Given the description of an element on the screen output the (x, y) to click on. 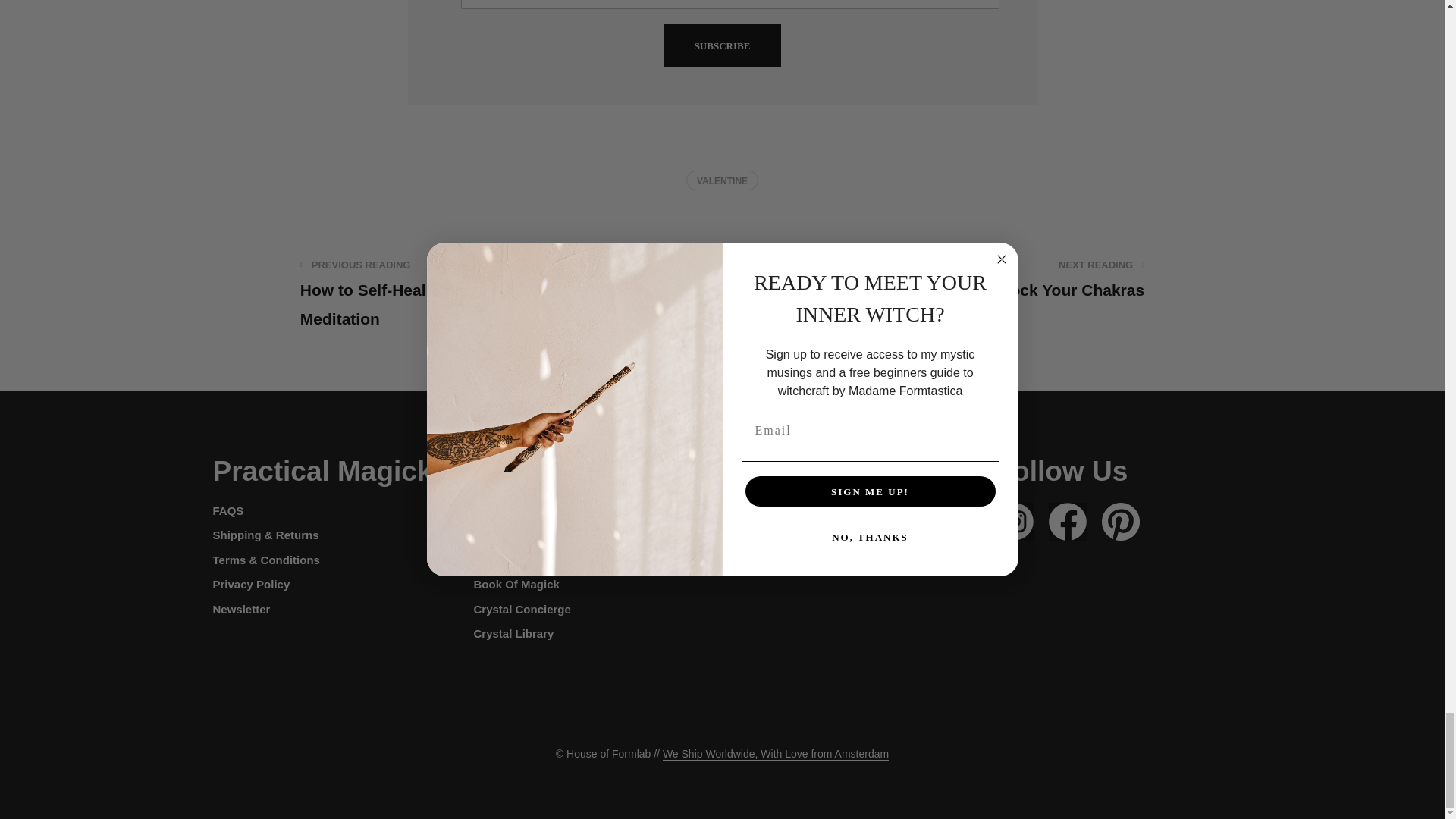
VALENTINE (721, 180)
SUBSCRIBE (1030, 279)
